Given the description of an element on the screen output the (x, y) to click on. 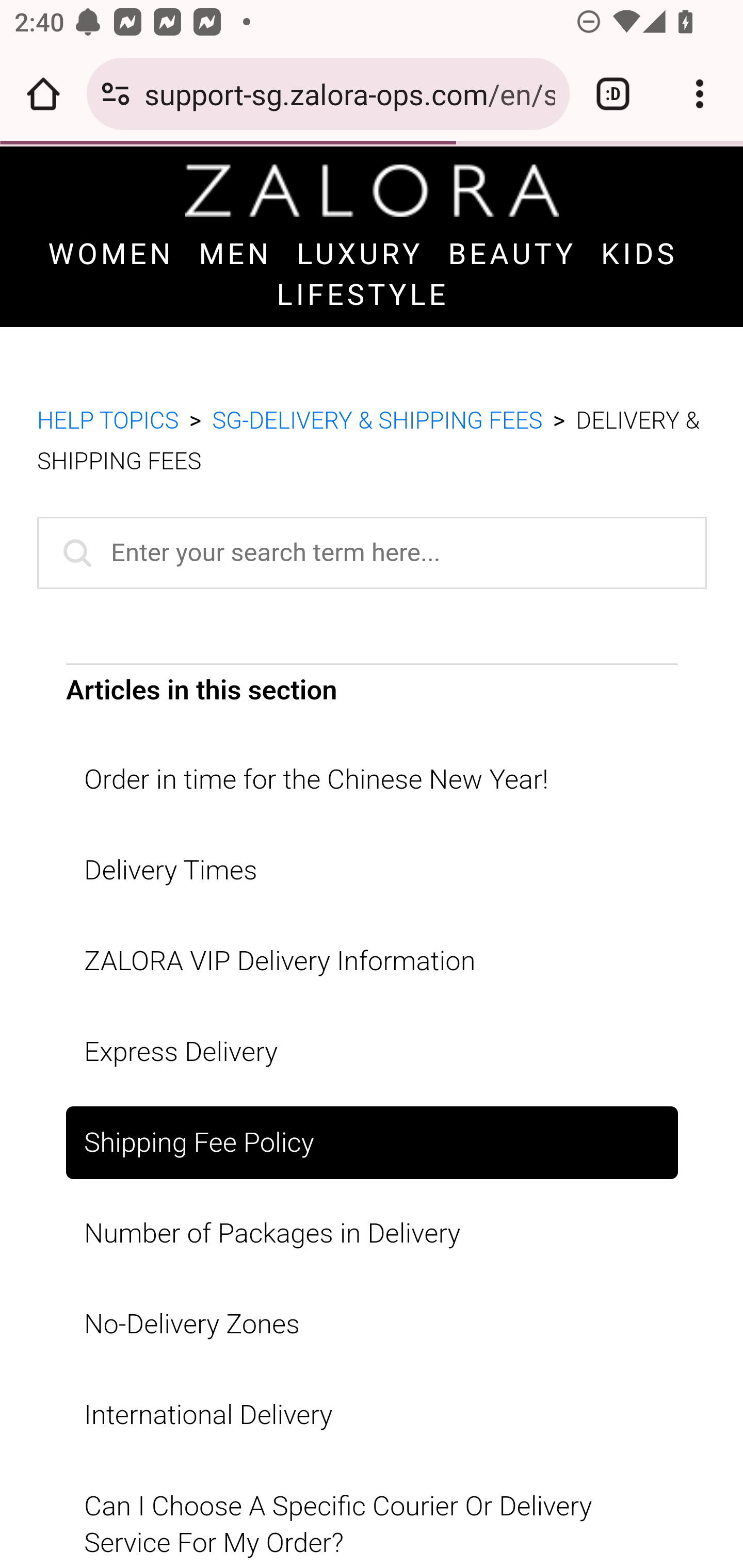
Open the home page (43, 93)
Connection is secure (115, 93)
Switch or close tabs (612, 93)
Customize and control Google Chrome (699, 93)
WOMEN (110, 242)
MEN (235, 242)
LUXURY (360, 242)
BEAUTY (513, 242)
KIDS (639, 242)
LIFESTYLE (362, 282)
HELP TOPICS (108, 409)
Search (72, 540)
Order in time for the Chinese New Year! (372, 767)
Delivery Times (372, 858)
ZALORA VIP Delivery Information (372, 949)
Express Delivery (372, 1040)
Shipping Fee Policy (372, 1131)
Number of Packages in Delivery (372, 1221)
No-Delivery Zones (372, 1312)
International Delivery (372, 1402)
